Given the description of an element on the screen output the (x, y) to click on. 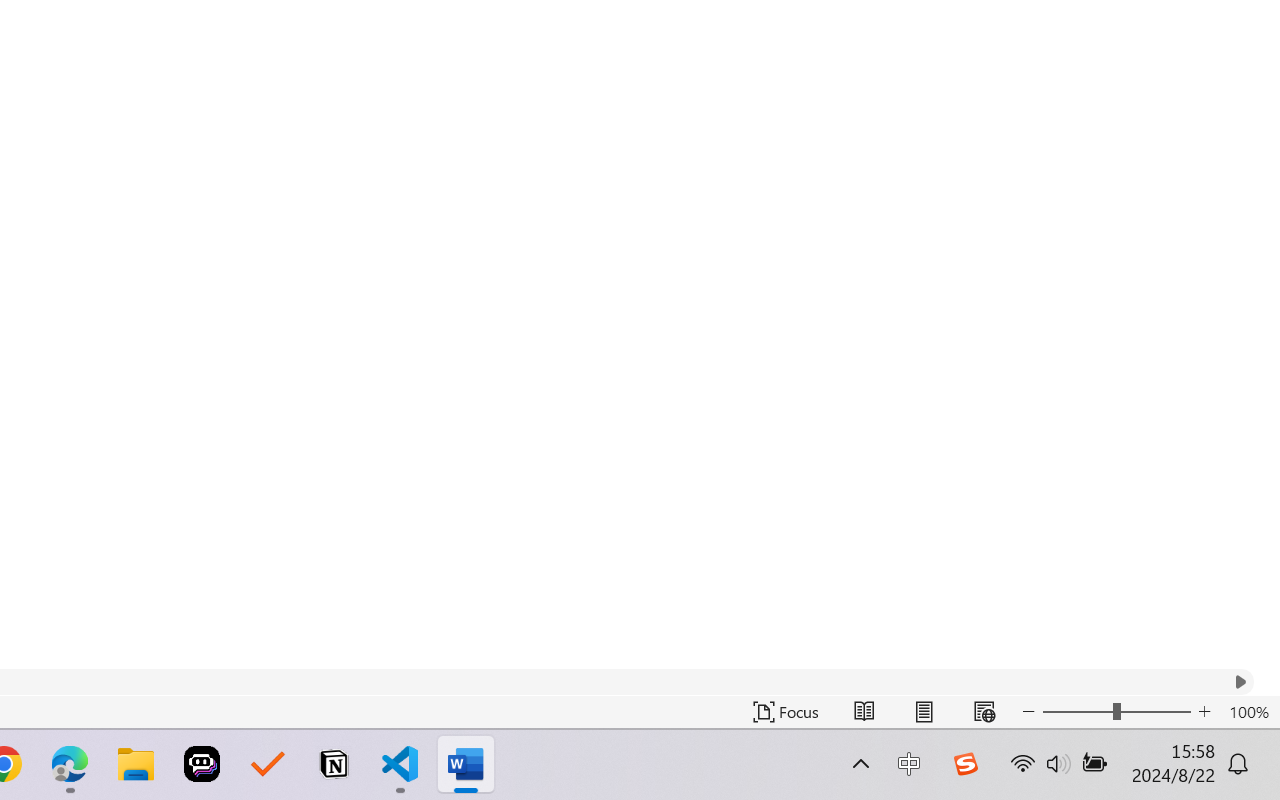
Zoom (1116, 712)
Zoom 100% (1249, 712)
Read Mode (864, 712)
Class: Image (965, 764)
Zoom In (1204, 712)
Focus  (786, 712)
Print Layout (924, 712)
Web Layout (984, 712)
Column right (1240, 681)
Zoom Out (1077, 712)
